Given the description of an element on the screen output the (x, y) to click on. 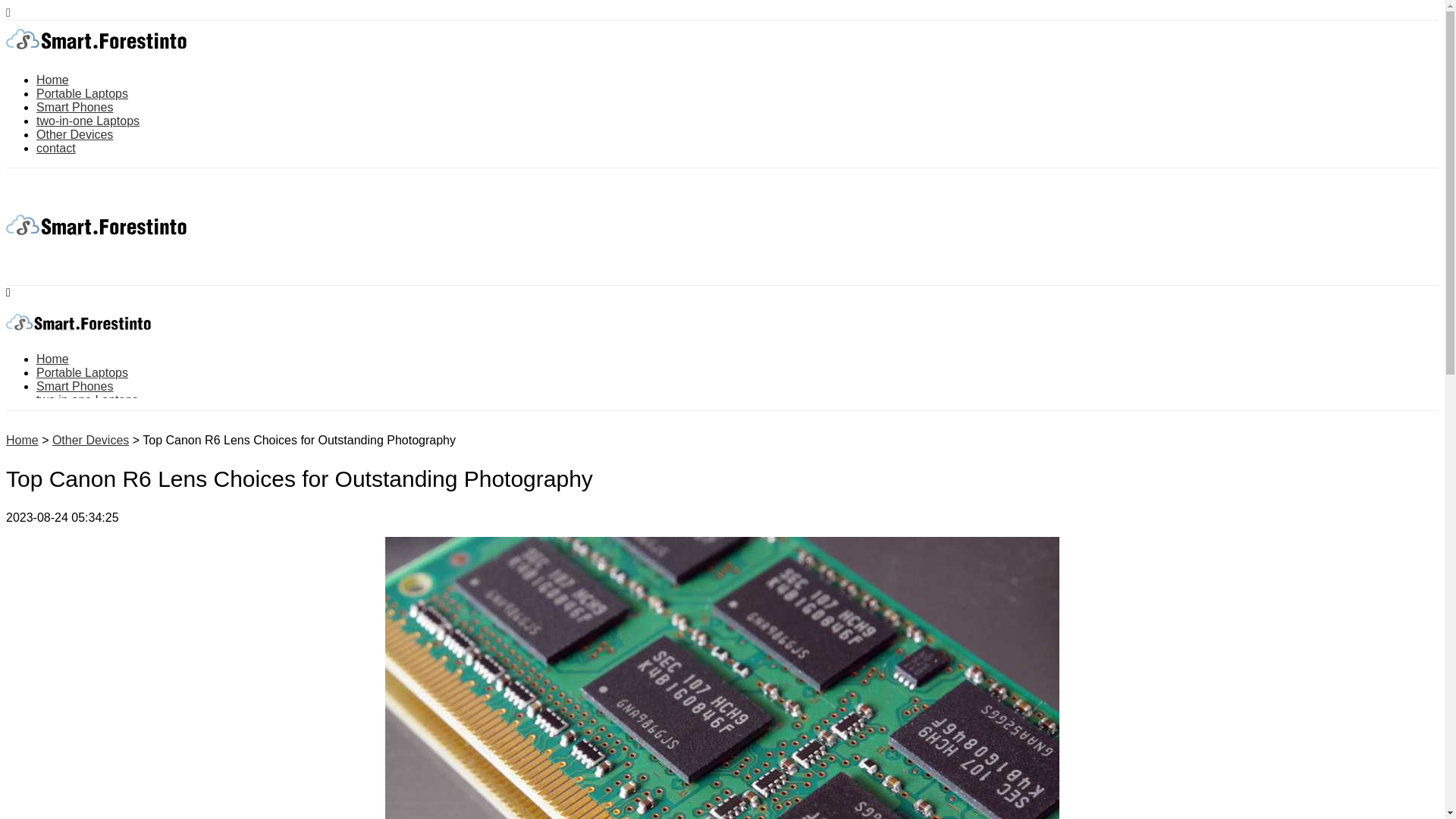
two in one Laptops (87, 399)
Smart Phones (74, 106)
contact (55, 147)
Home (52, 358)
Portable Laptops (82, 92)
Smart Phones (74, 386)
two-in-one Laptops (87, 120)
Home (22, 440)
Other Devices (74, 133)
Portable Laptops (82, 372)
